Given the description of an element on the screen output the (x, y) to click on. 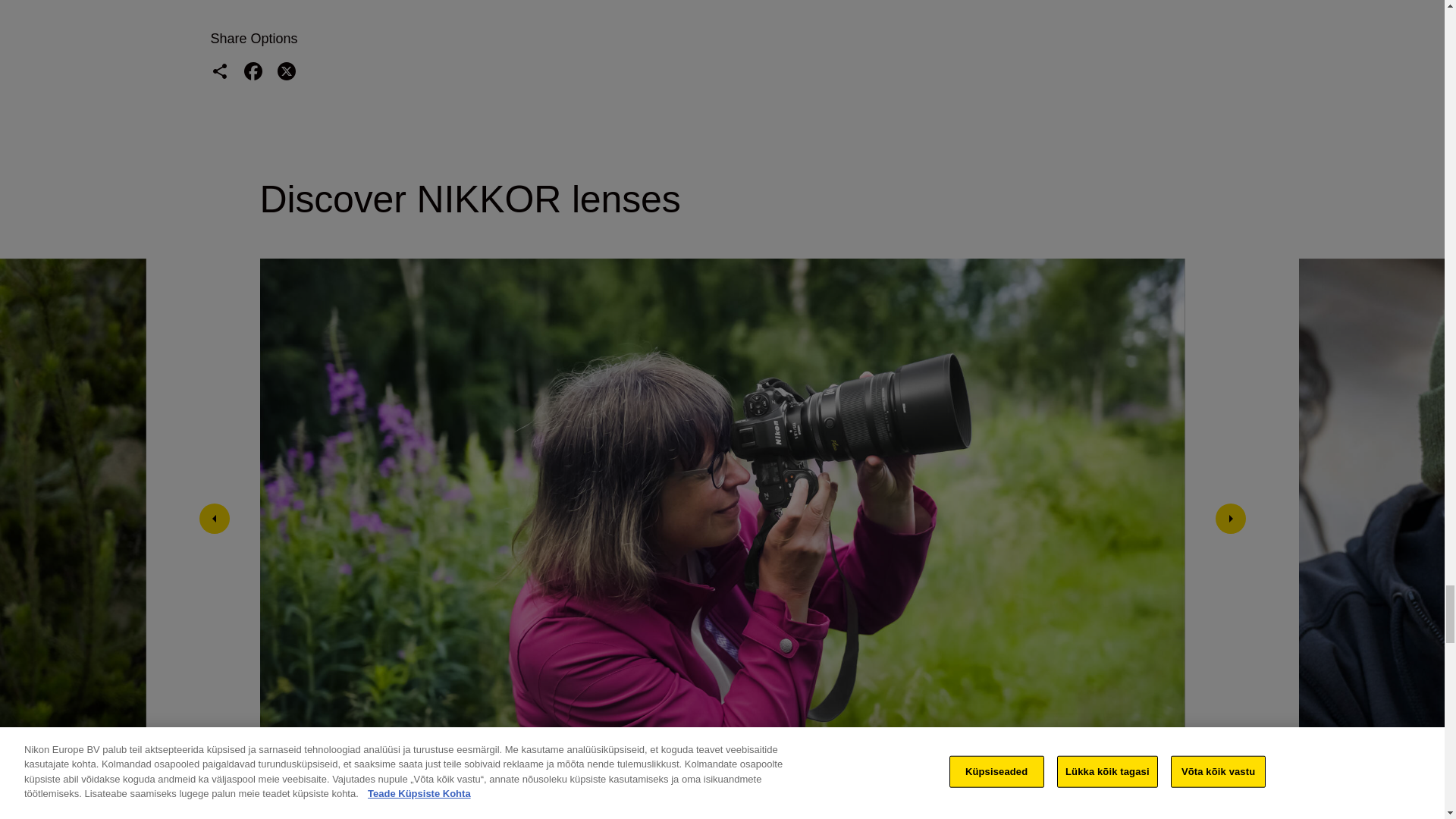
READ MORE (1129, 812)
